Given the description of an element on the screen output the (x, y) to click on. 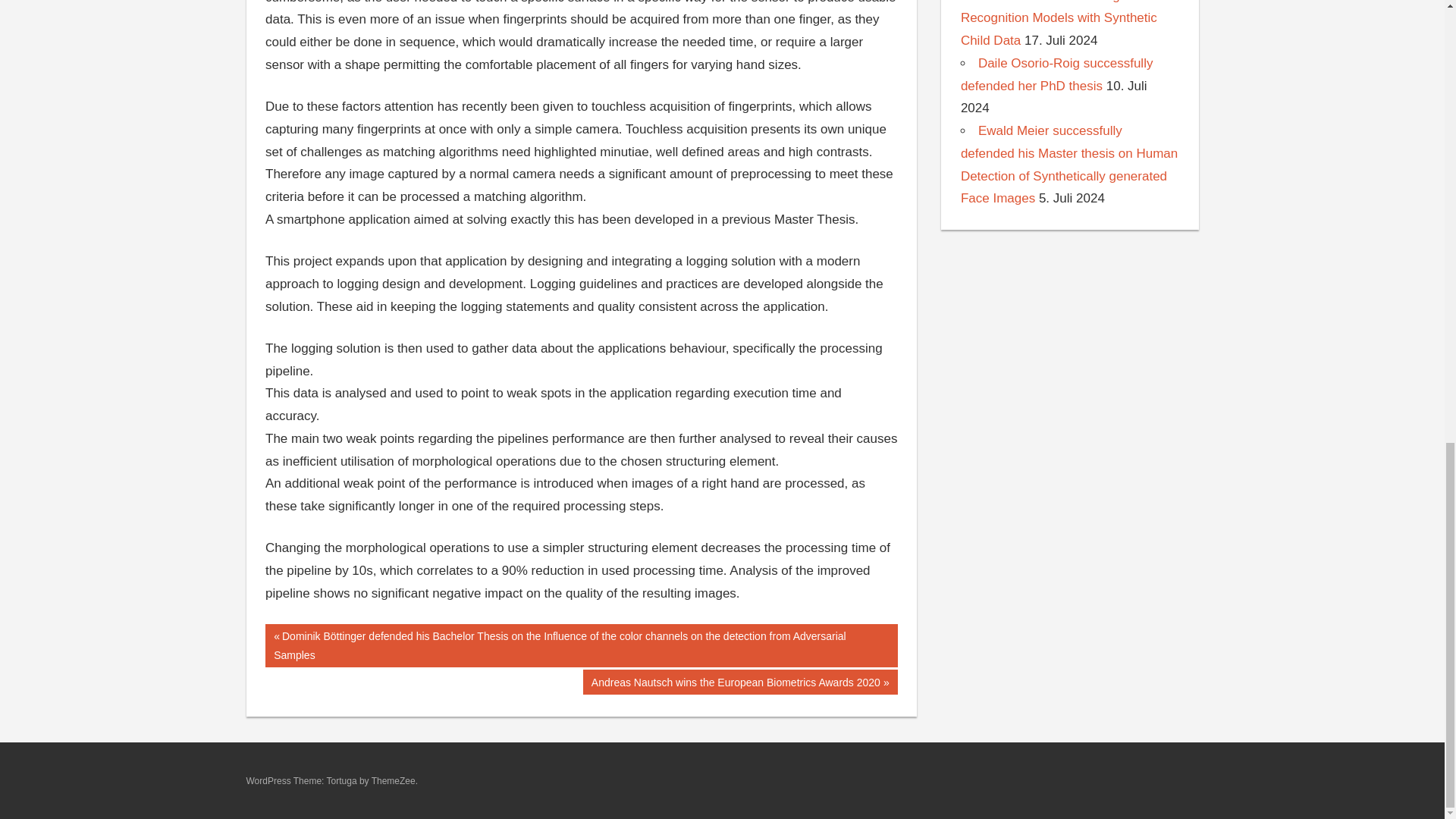
Daile Osorio-Roig successfully defended her PhD thesis (1056, 74)
